Given the description of an element on the screen output the (x, y) to click on. 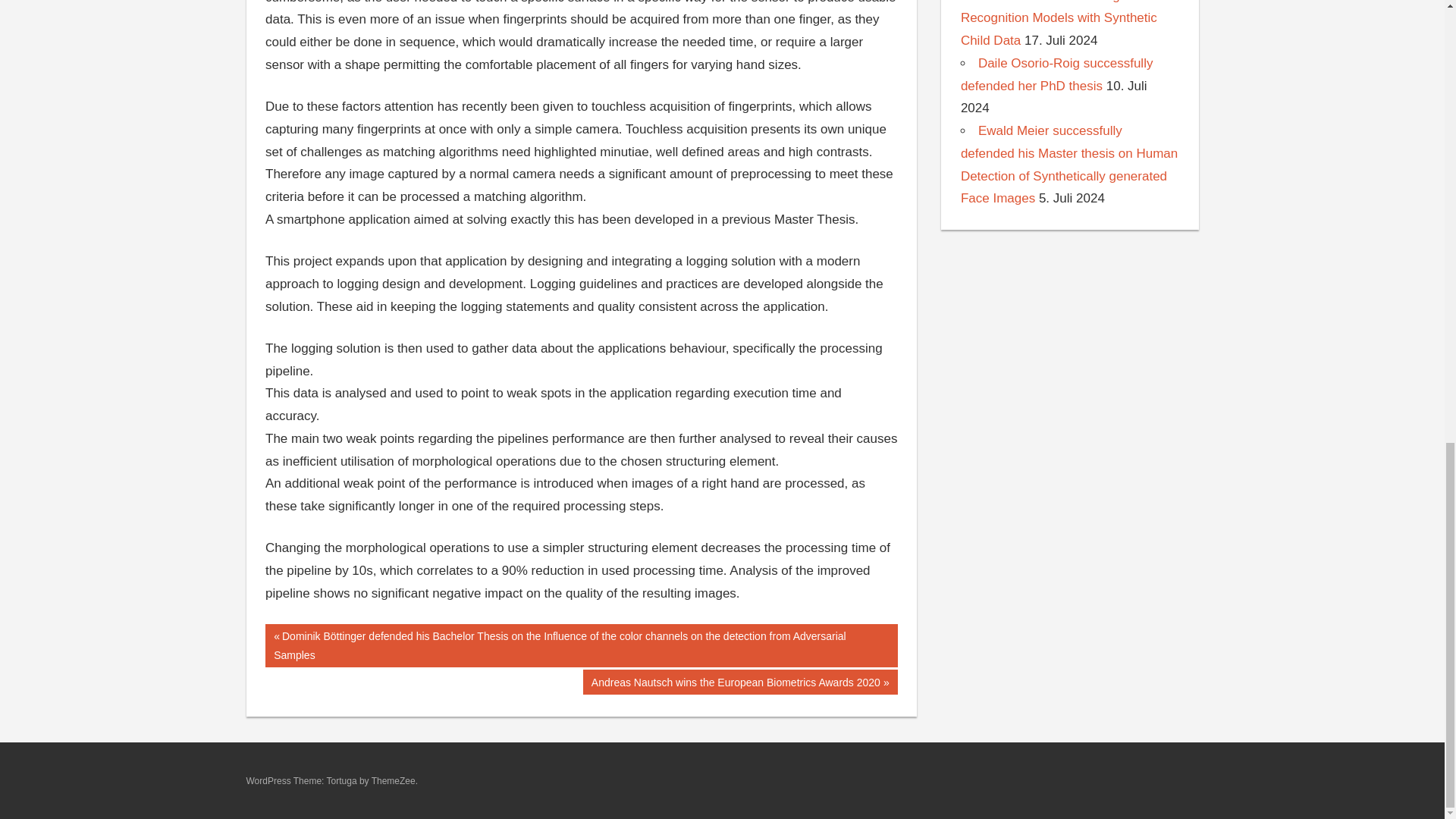
Daile Osorio-Roig successfully defended her PhD thesis (1056, 74)
